Given the description of an element on the screen output the (x, y) to click on. 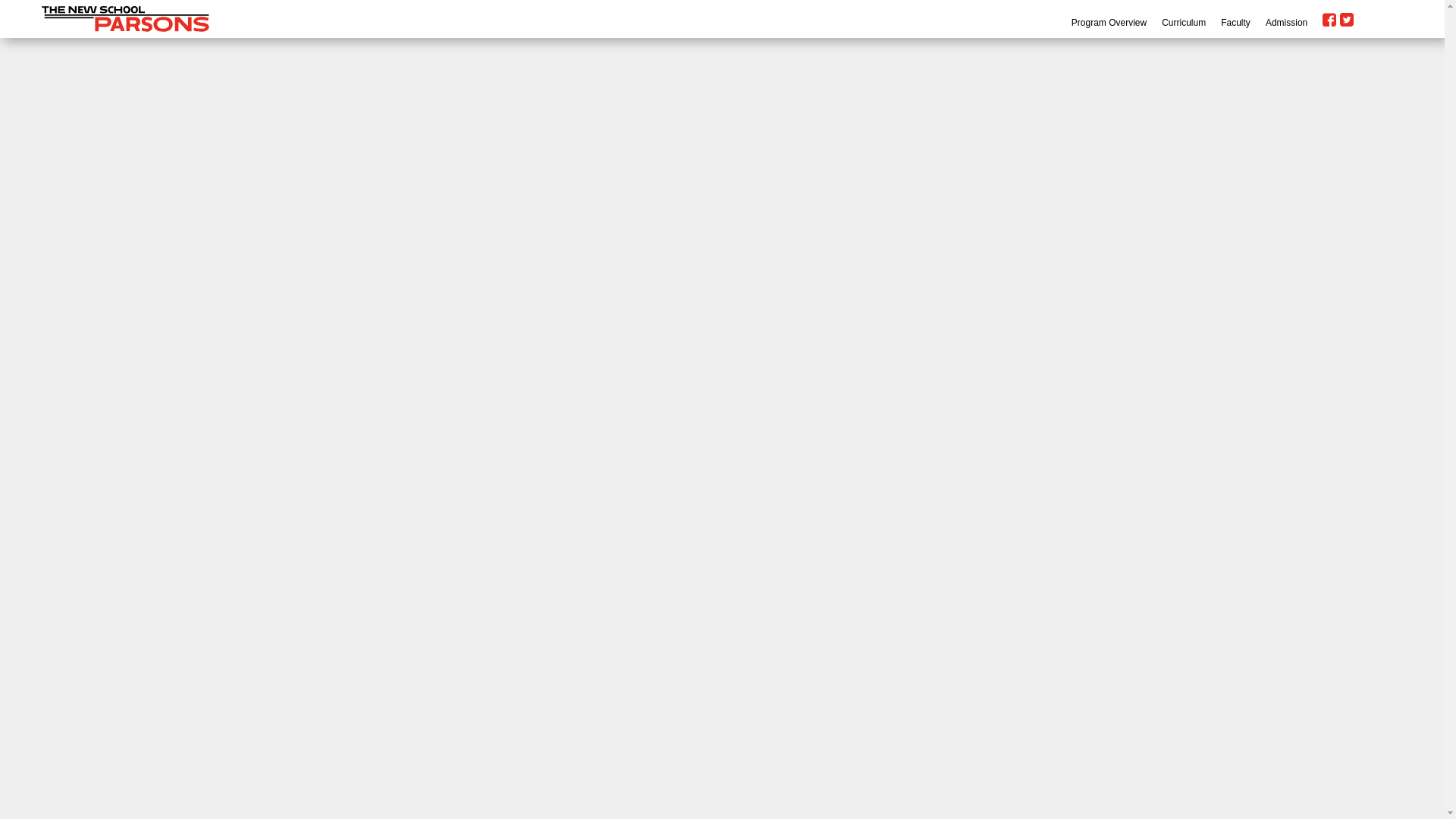
Curriculum (1183, 22)
Faculty (1235, 22)
Admission (1286, 22)
Program Overview (1109, 22)
